Given the description of an element on the screen output the (x, y) to click on. 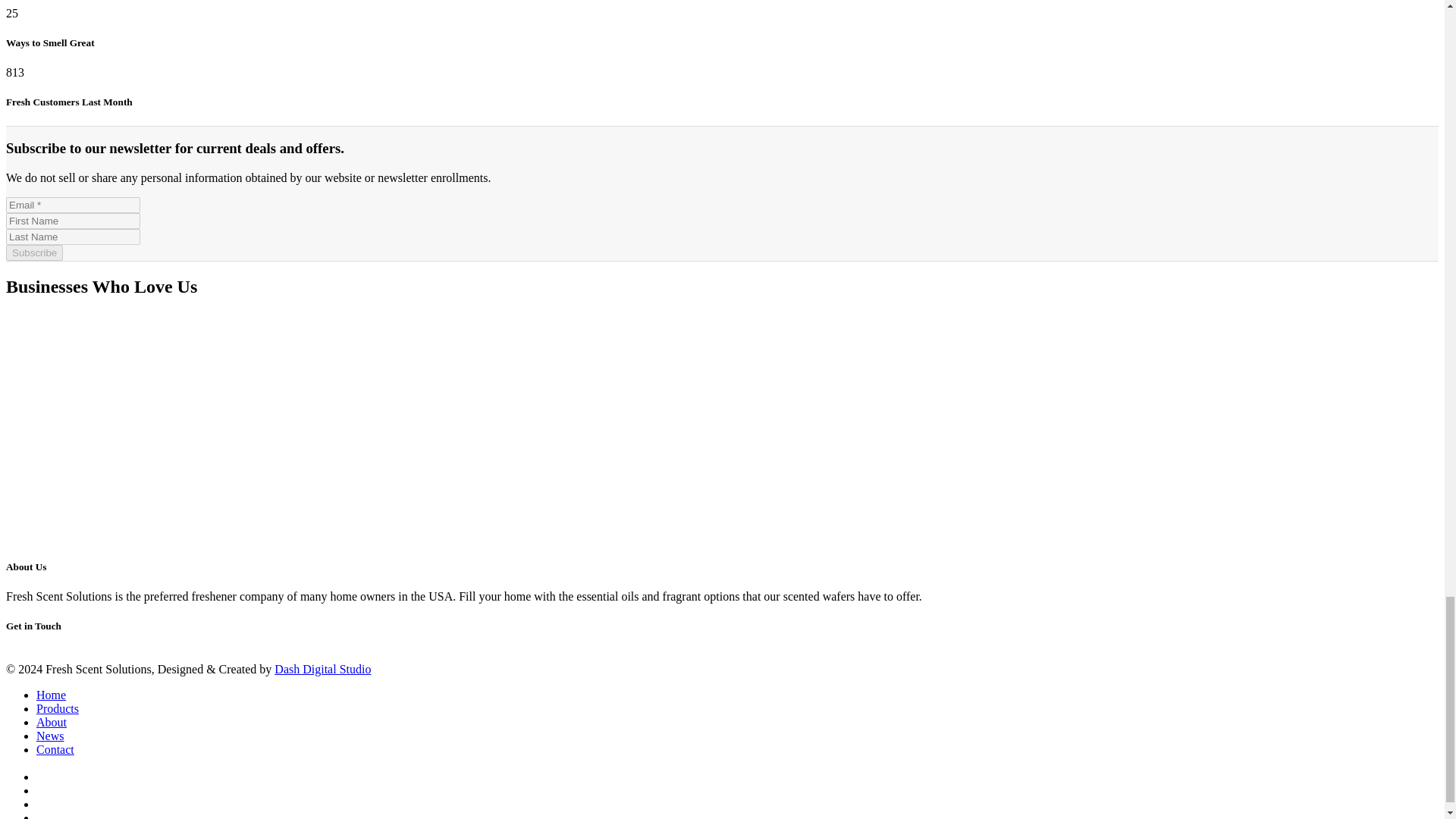
Contact Us (33, 657)
Subscribe (33, 252)
Products (57, 707)
Subscribe (33, 252)
Dash Digital Studio (323, 668)
Home (50, 694)
